Given the description of an element on the screen output the (x, y) to click on. 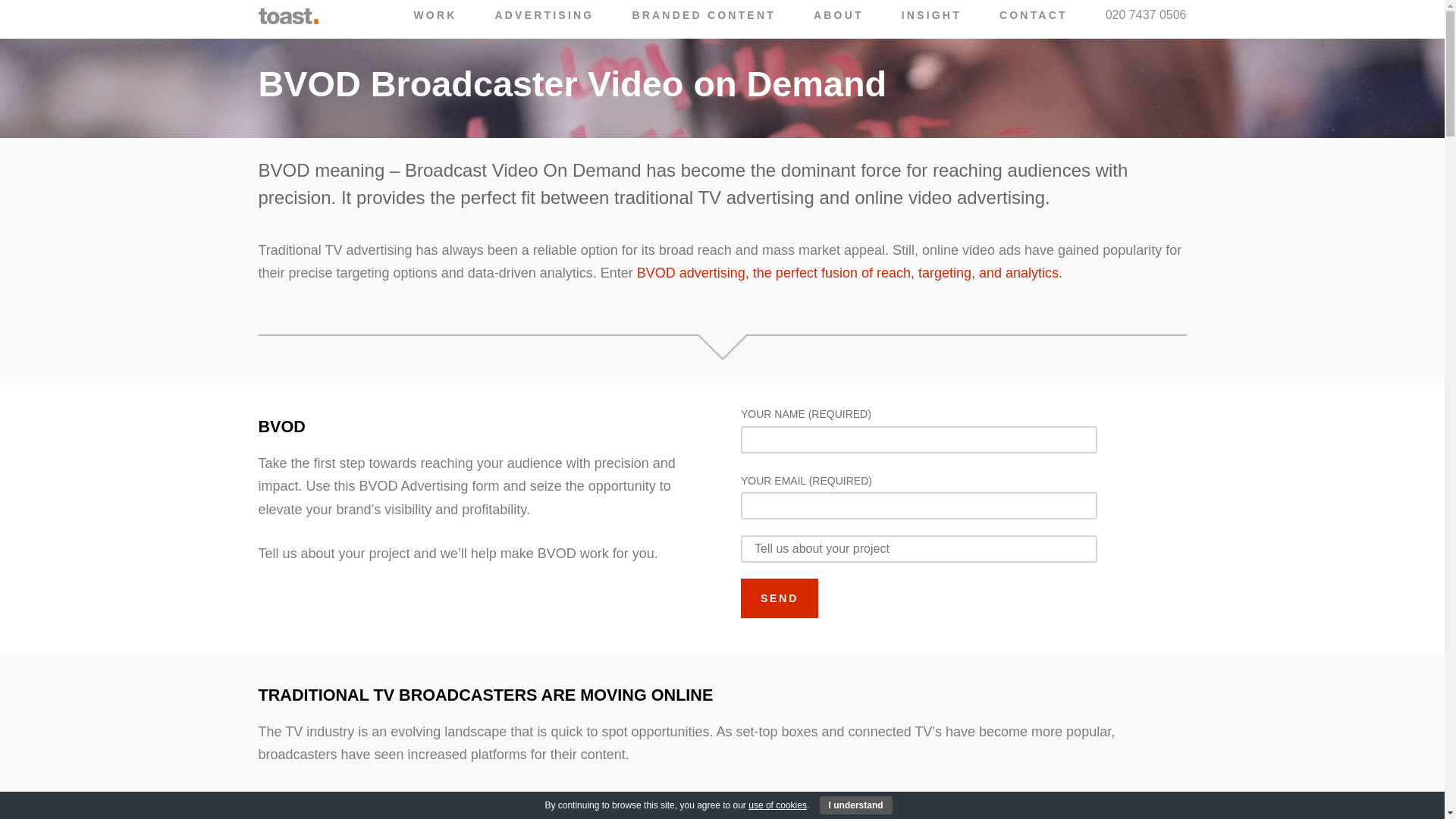
INSIGHT (930, 15)
Phone (1145, 15)
Send (779, 598)
ABOUT (838, 15)
CONTACT (1032, 15)
ADVERTISING (544, 15)
BRANDED CONTENT (703, 15)
WORK (435, 15)
Send (779, 598)
020 7437 0506 (1145, 15)
